Given the description of an element on the screen output the (x, y) to click on. 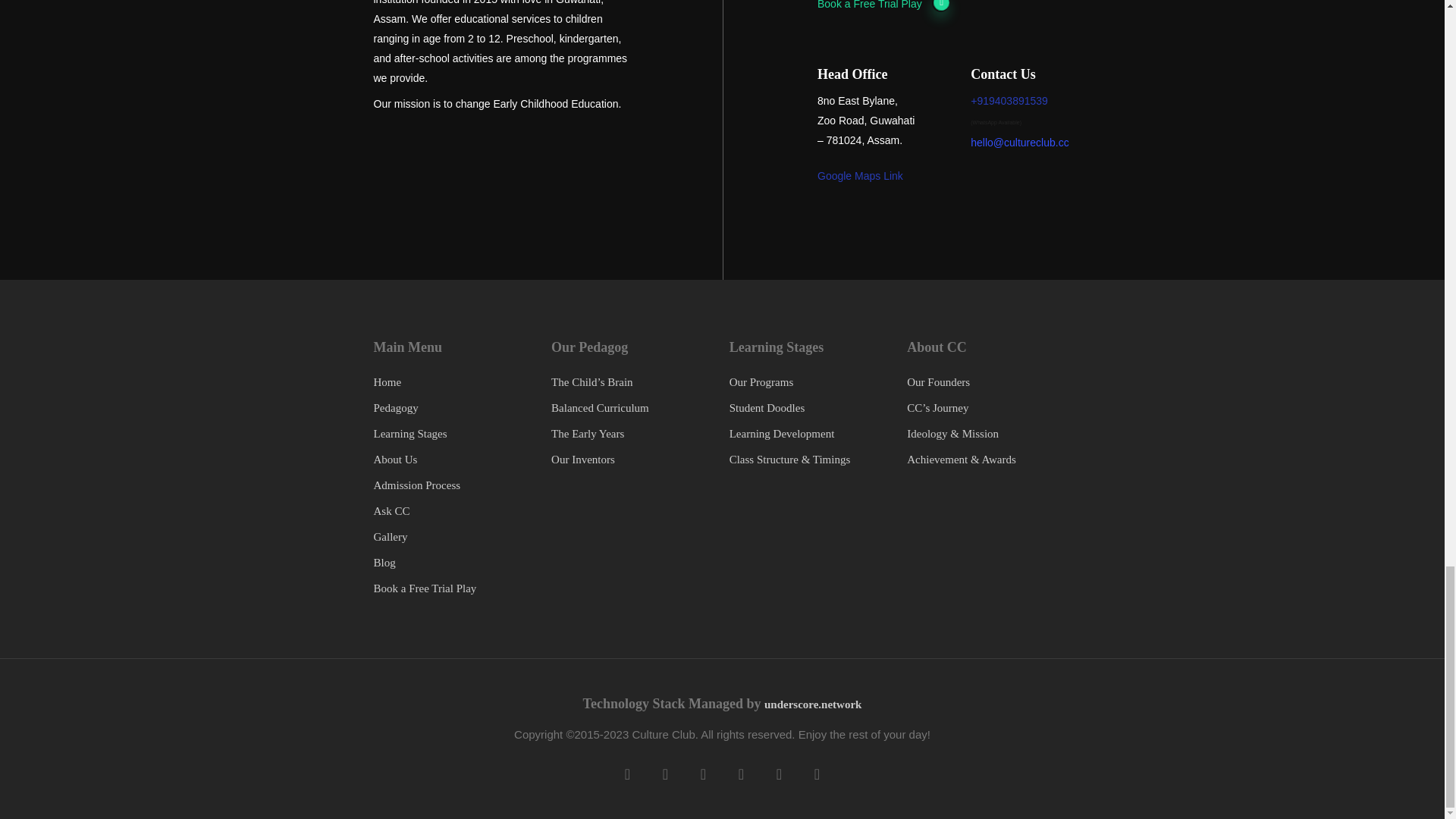
instagram (816, 773)
Our Founders (938, 381)
Google Maps Link (859, 175)
Gallery (389, 536)
Book a Free Trial Play (883, 6)
Home (386, 381)
Student Doodles (767, 408)
About Us (394, 459)
Blog (383, 562)
twitter (627, 773)
Our Programs (761, 381)
Balanced Curriculum (600, 408)
pinterest (702, 773)
google-plus (778, 773)
underscore.network (812, 704)
